Given the description of an element on the screen output the (x, y) to click on. 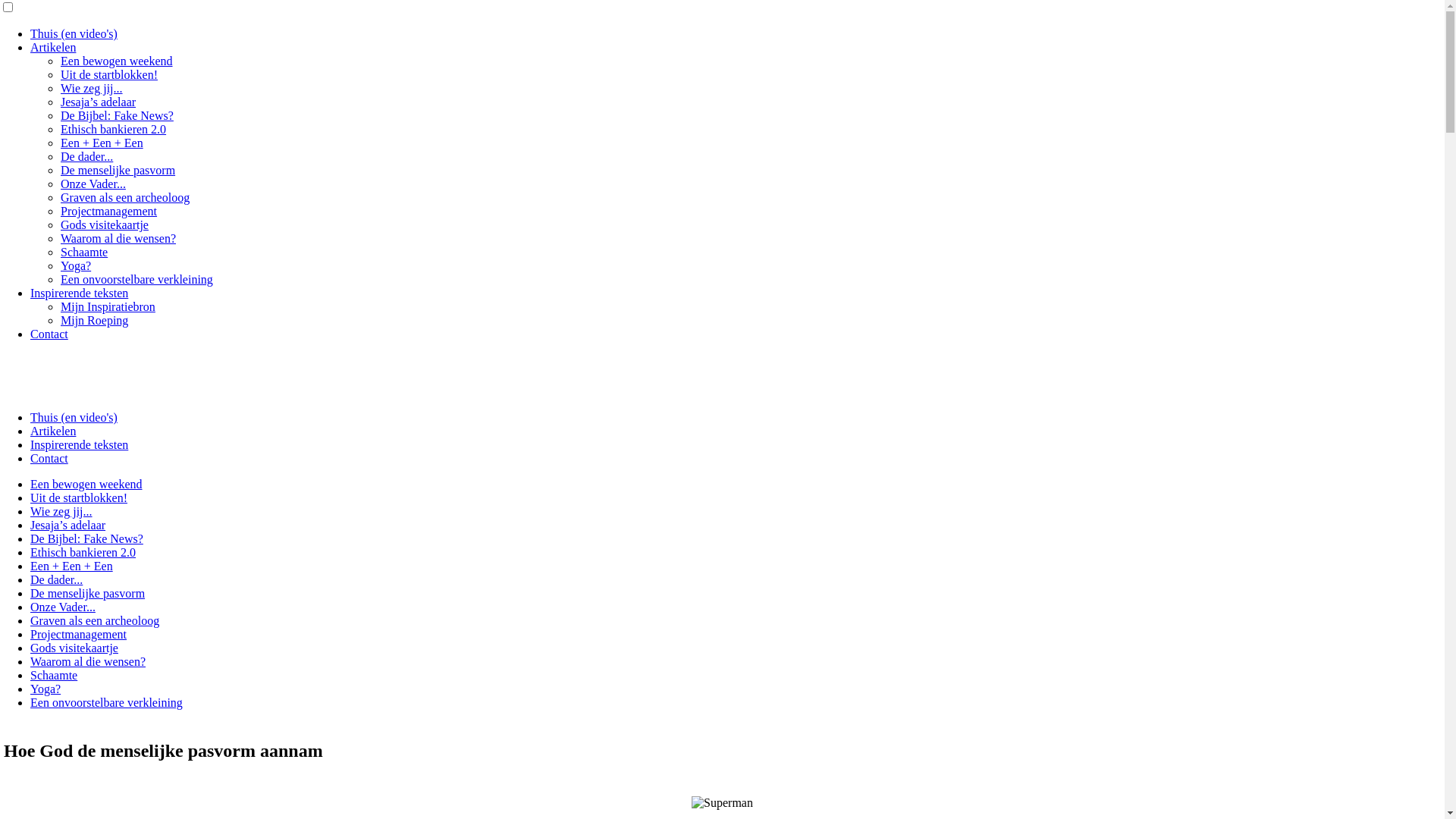
Inspirerende teksten Element type: text (79, 444)
Een bewogen weekend Element type: text (86, 483)
Contact Element type: text (49, 457)
Waarom al die wensen? Element type: text (87, 661)
Een bewogen weekend Element type: text (116, 60)
Een + Een + Een Element type: text (101, 142)
Thuis (en video's) Element type: text (73, 33)
Schaamte Element type: text (53, 674)
Ethisch bankieren 2.0 Element type: text (82, 552)
De dader... Element type: text (56, 579)
De Bijbel: Fake News? Element type: text (116, 115)
De dader... Element type: text (86, 156)
Contact Element type: text (49, 333)
Thuis (en video's) Element type: text (73, 417)
Schaamte Element type: text (83, 251)
Uit de startblokken! Element type: text (108, 74)
De Bijbel: Fake News? Element type: text (86, 538)
Een onvoorstelbare verkleining Element type: text (136, 279)
Yoga? Element type: text (45, 688)
Waarom al die wensen? Element type: text (117, 238)
Wie zeg jij... Element type: text (91, 87)
Graven als een archeoloog Element type: text (94, 620)
Mijn Roeping Element type: text (94, 319)
Uit de startblokken! Element type: text (78, 497)
Gods visitekaartje Element type: text (104, 224)
Artikelen Element type: text (52, 46)
Yoga? Element type: text (75, 265)
Projectmanagement Element type: text (78, 633)
Wie zeg jij... Element type: text (61, 511)
Graven als een archeoloog Element type: text (124, 197)
Onze Vader... Element type: text (92, 183)
De menselijke pasvorm Element type: text (117, 169)
Een onvoorstelbare verkleining Element type: text (106, 702)
Ethisch bankieren 2.0 Element type: text (113, 128)
Artikelen Element type: text (52, 430)
Projectmanagement Element type: text (108, 210)
Mijn Inspiratiebron Element type: text (107, 306)
Onze Vader... Element type: text (62, 606)
Inspirerende teksten Element type: text (79, 292)
Gods visitekaartje Element type: text (74, 647)
Een + Een + Een Element type: text (71, 565)
De menselijke pasvorm Element type: text (87, 592)
